Given the description of an element on the screen output the (x, y) to click on. 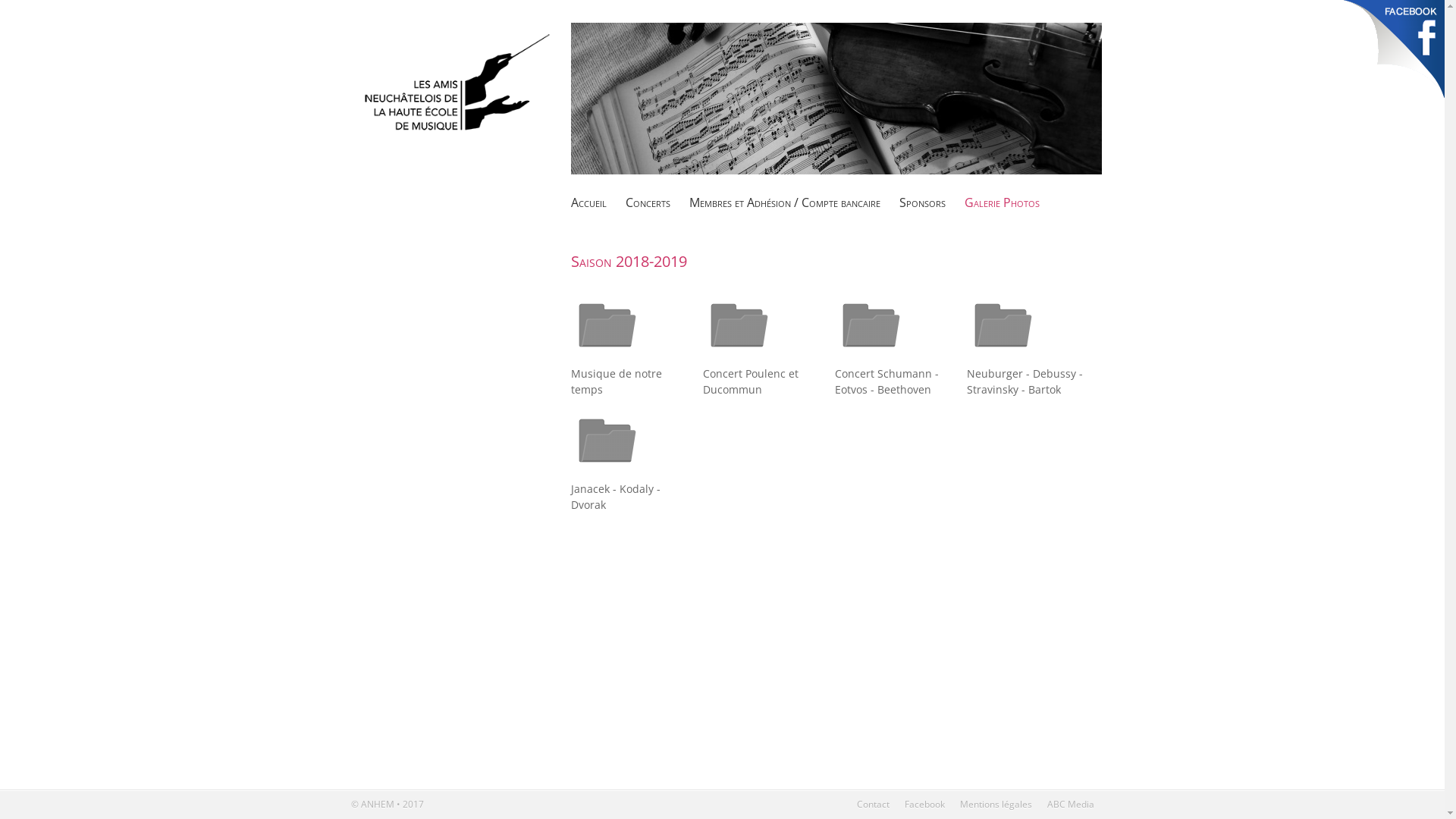
Janacek - Kodaly - Dvorak Element type: hover (607, 472)
Accueil Element type: text (587, 202)
Concerts Element type: text (646, 202)
Neuburger - Debussy - Stravinsky - Bartok Element type: hover (1002, 357)
Facebook Element type: text (923, 803)
Contact Element type: text (872, 803)
Musique de notre temps Element type: hover (607, 357)
Sponsors Element type: text (922, 202)
Concert Poulenc et Ducommun Element type: hover (738, 357)
Galerie Photos Element type: text (1001, 202)
Concert Schumann - Eotvos - Beethoven Element type: hover (870, 357)
ABC Media Element type: text (1069, 803)
